Given the description of an element on the screen output the (x, y) to click on. 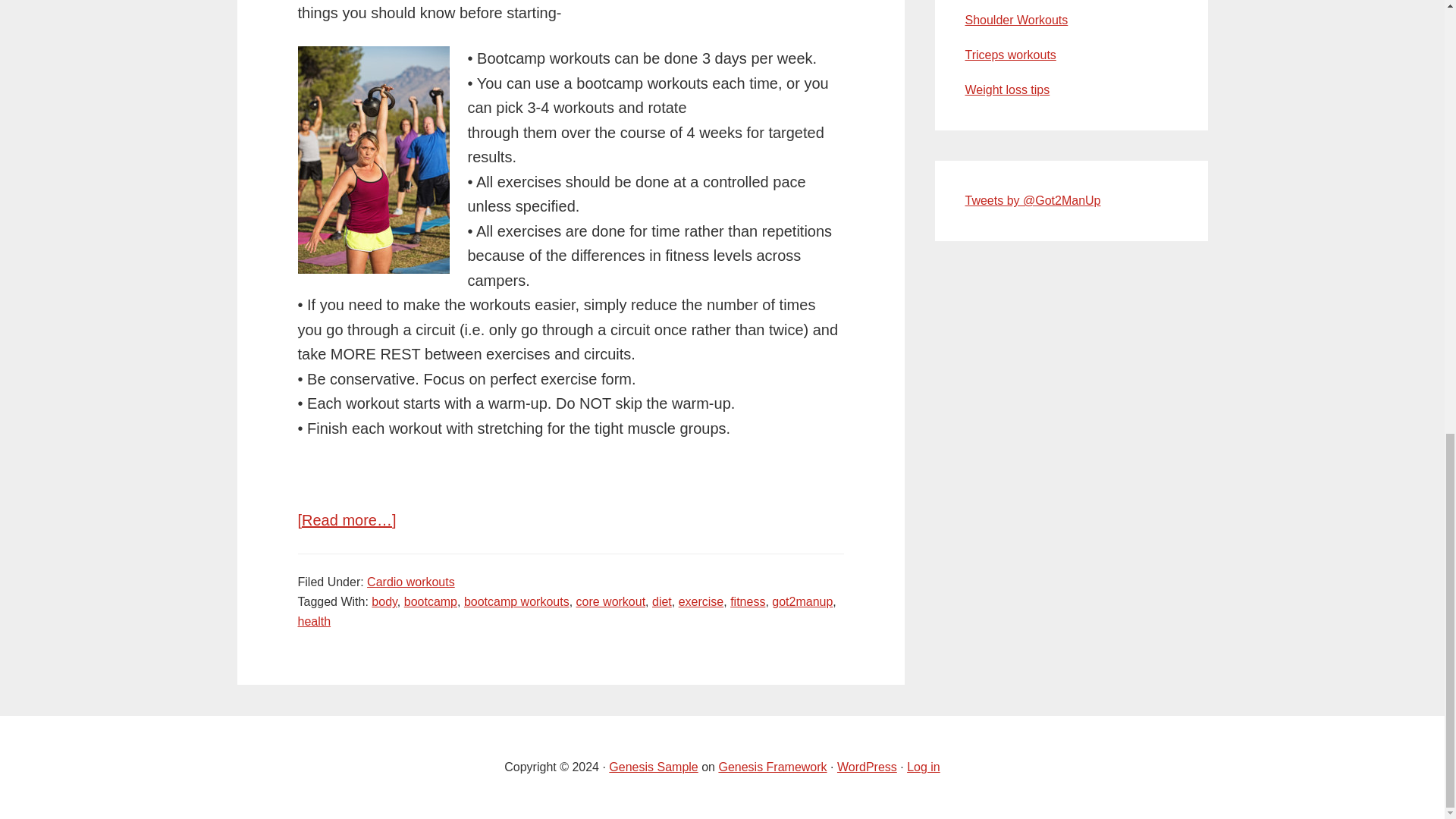
bootcamp (430, 601)
body (384, 601)
Cardio workouts (410, 581)
exercise (700, 601)
fitness (747, 601)
core workout (611, 601)
got2manup (801, 601)
health (313, 621)
bootcamp workouts (516, 601)
diet (661, 601)
